Given the description of an element on the screen output the (x, y) to click on. 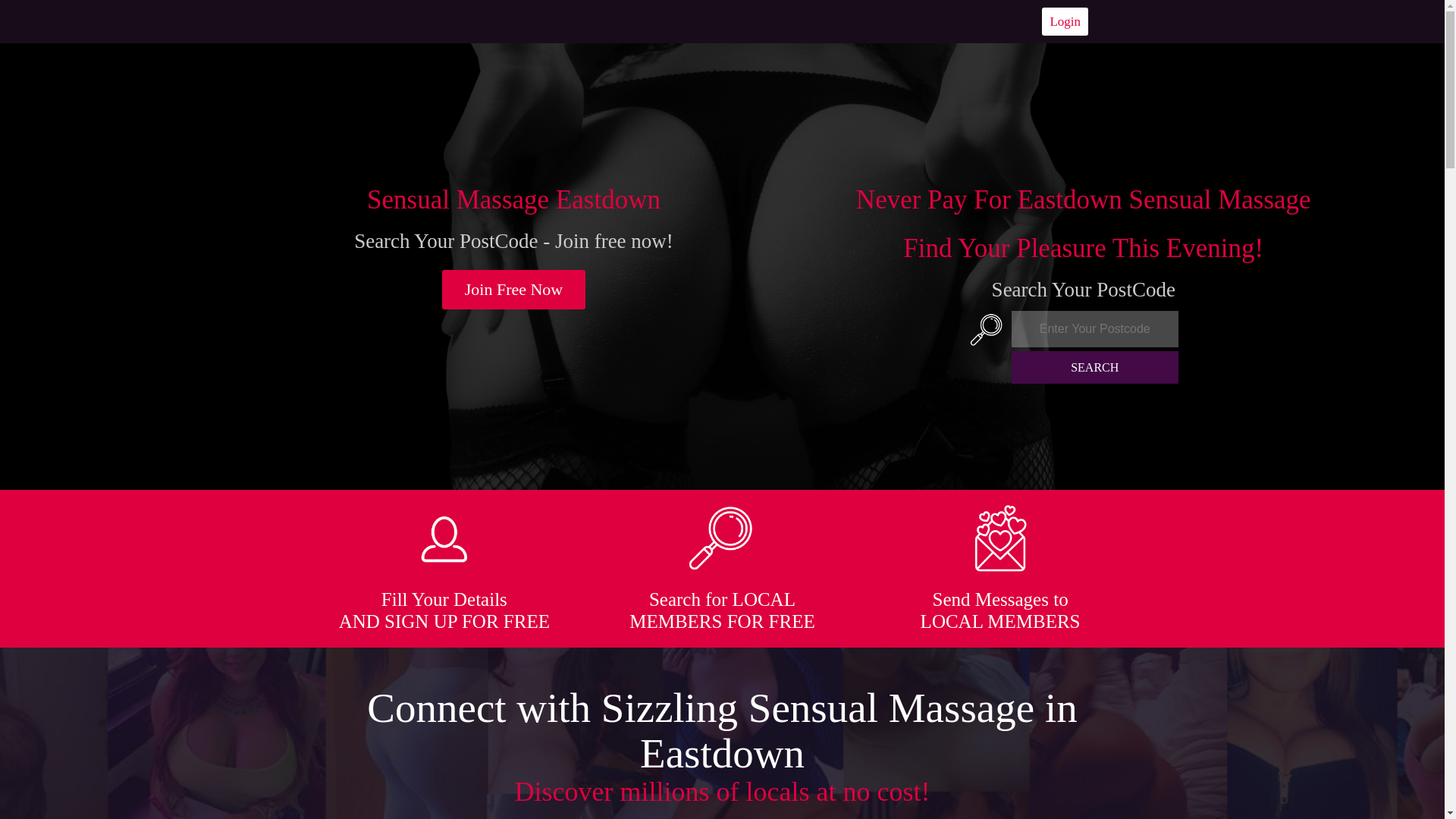
Login (1064, 21)
Login (1064, 21)
Join Free Now (514, 289)
SEARCH (1094, 367)
Join (514, 289)
